Given the description of an element on the screen output the (x, y) to click on. 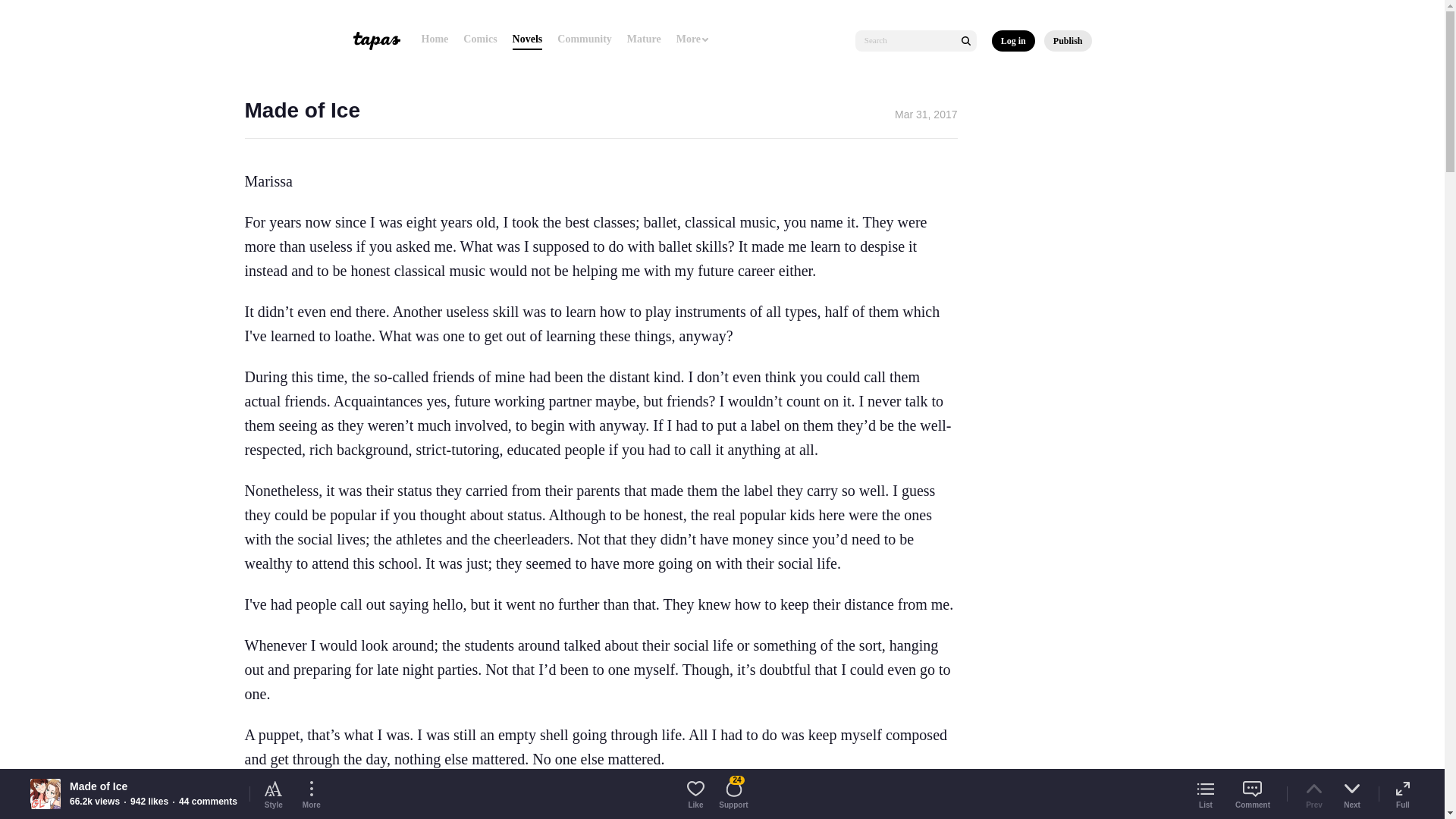
Home (435, 38)
Publish (1067, 40)
Comics (479, 38)
More (693, 38)
Mature (644, 38)
Log in (1013, 40)
Novels (527, 38)
Community (584, 38)
